Given the description of an element on the screen output the (x, y) to click on. 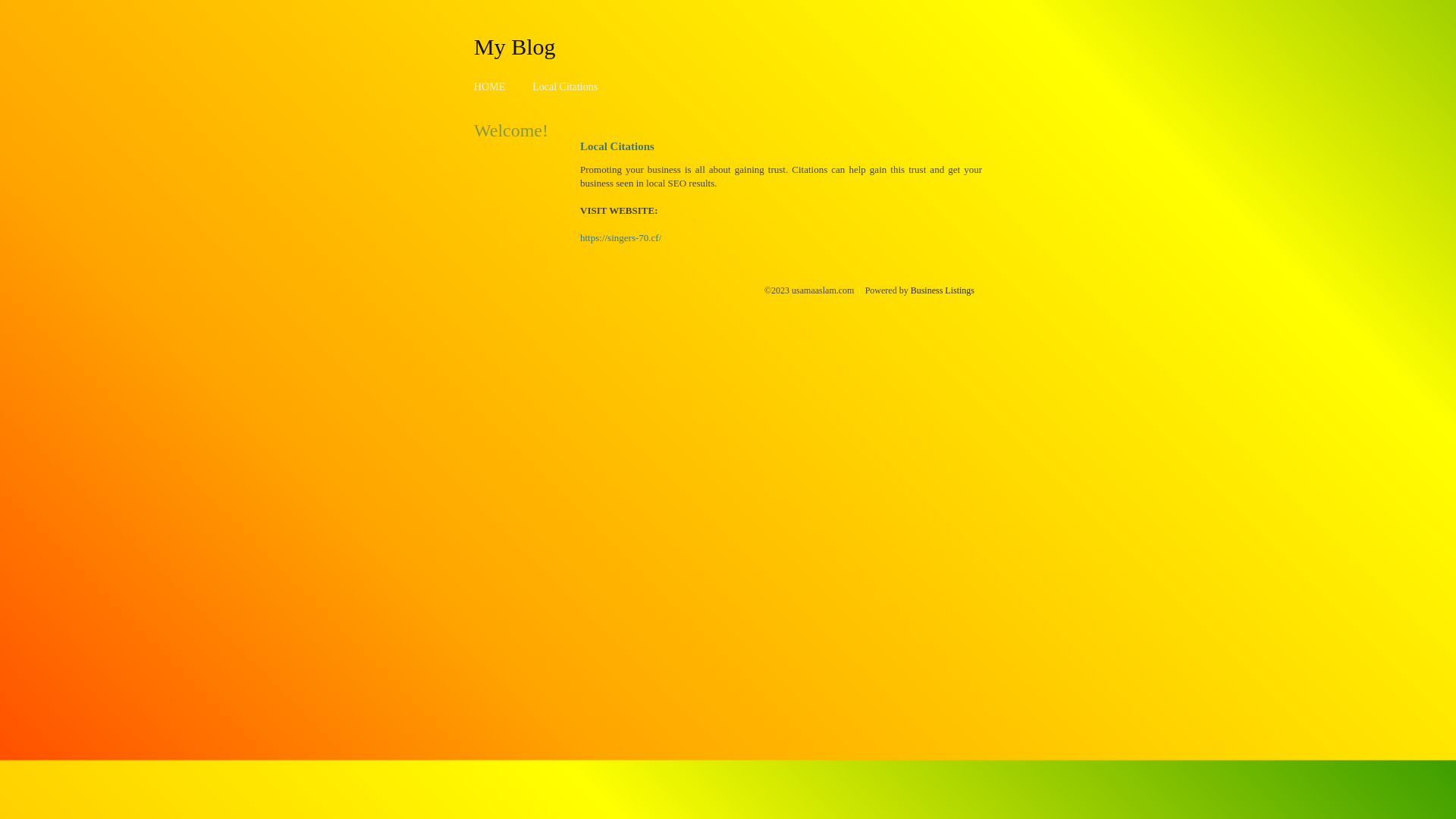
Local Citations Element type: text (564, 86)
Business Listings Element type: text (942, 290)
https://singers-70.cf/ Element type: text (620, 237)
My Blog Element type: text (514, 46)
HOME Element type: text (489, 86)
